Given the description of an element on the screen output the (x, y) to click on. 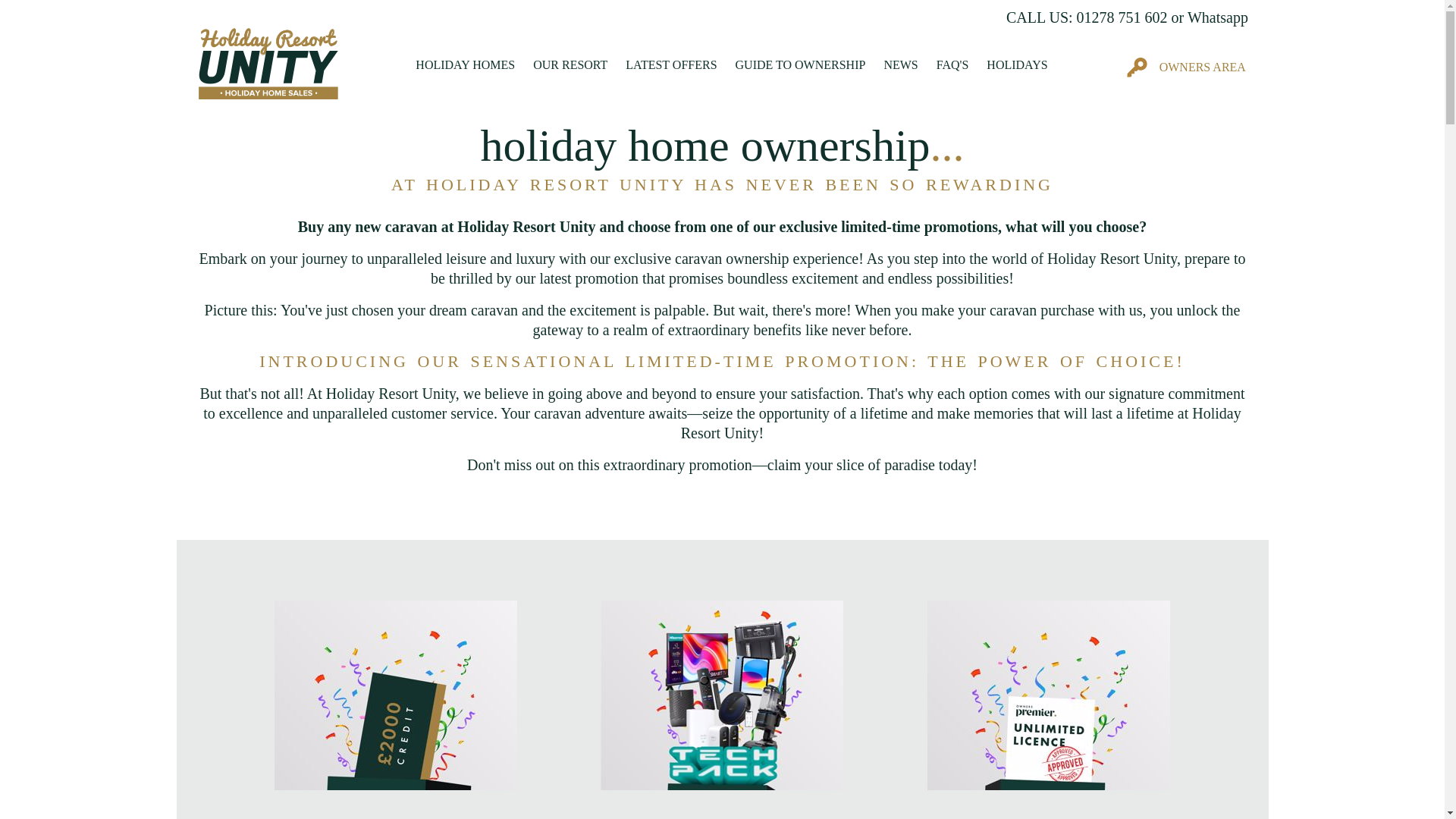
OWNERS AREA (1182, 62)
NEWS (900, 64)
FAQ'S (952, 64)
Whatsapp (1217, 17)
CALL US: 01278 751 602 (1086, 17)
OUR RESORT (569, 64)
HOLIDAYS (1015, 64)
GUIDE TO OWNERSHIP (800, 64)
LATEST OFFERS (671, 64)
HOLIDAY HOMES (465, 64)
